Given the description of an element on the screen output the (x, y) to click on. 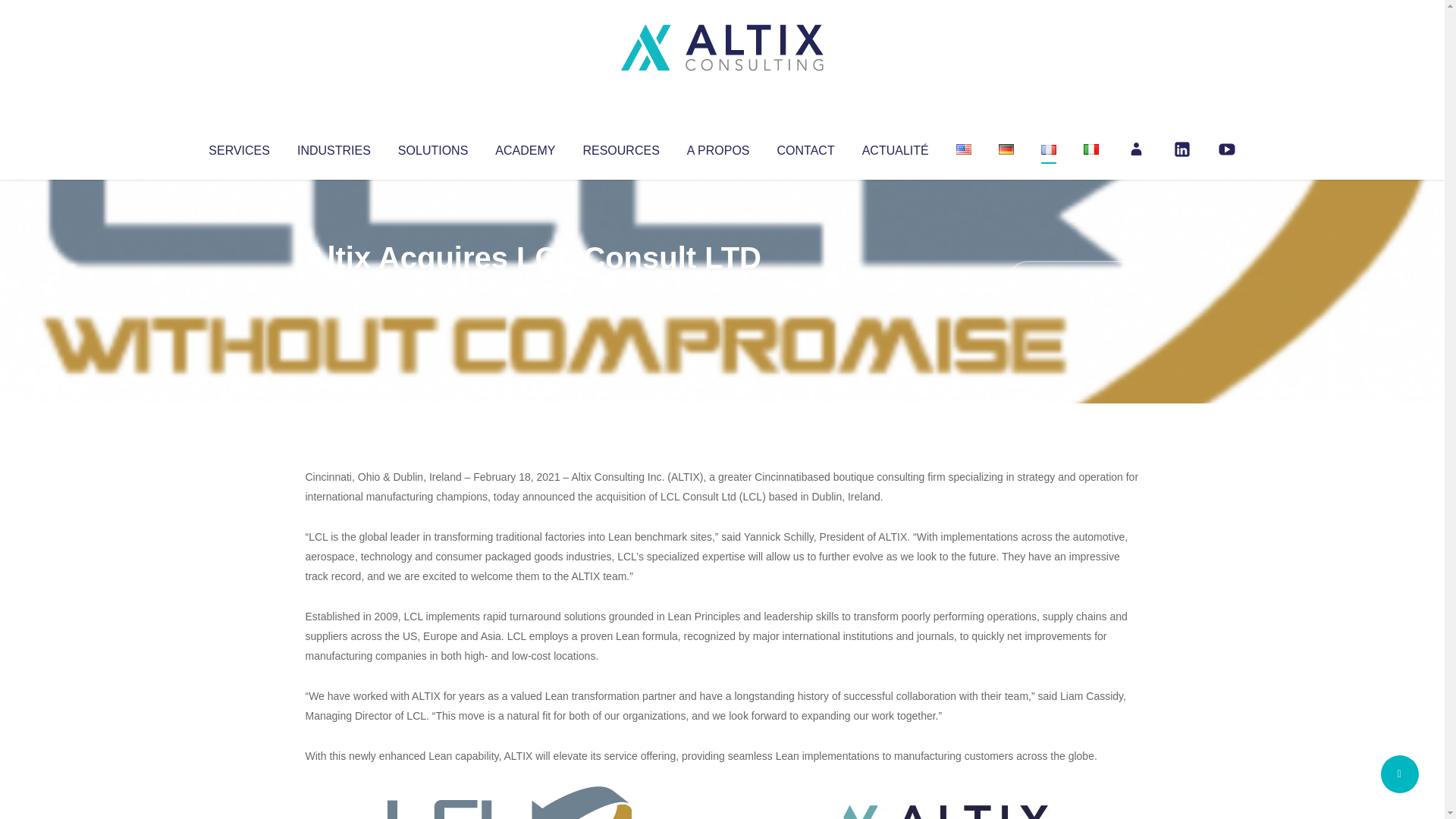
Articles par Altix (333, 287)
SERVICES (238, 146)
RESOURCES (620, 146)
SOLUTIONS (432, 146)
Uncategorized (530, 287)
No Comments (1073, 278)
Altix (333, 287)
INDUSTRIES (334, 146)
ACADEMY (524, 146)
A PROPOS (718, 146)
